Given the description of an element on the screen output the (x, y) to click on. 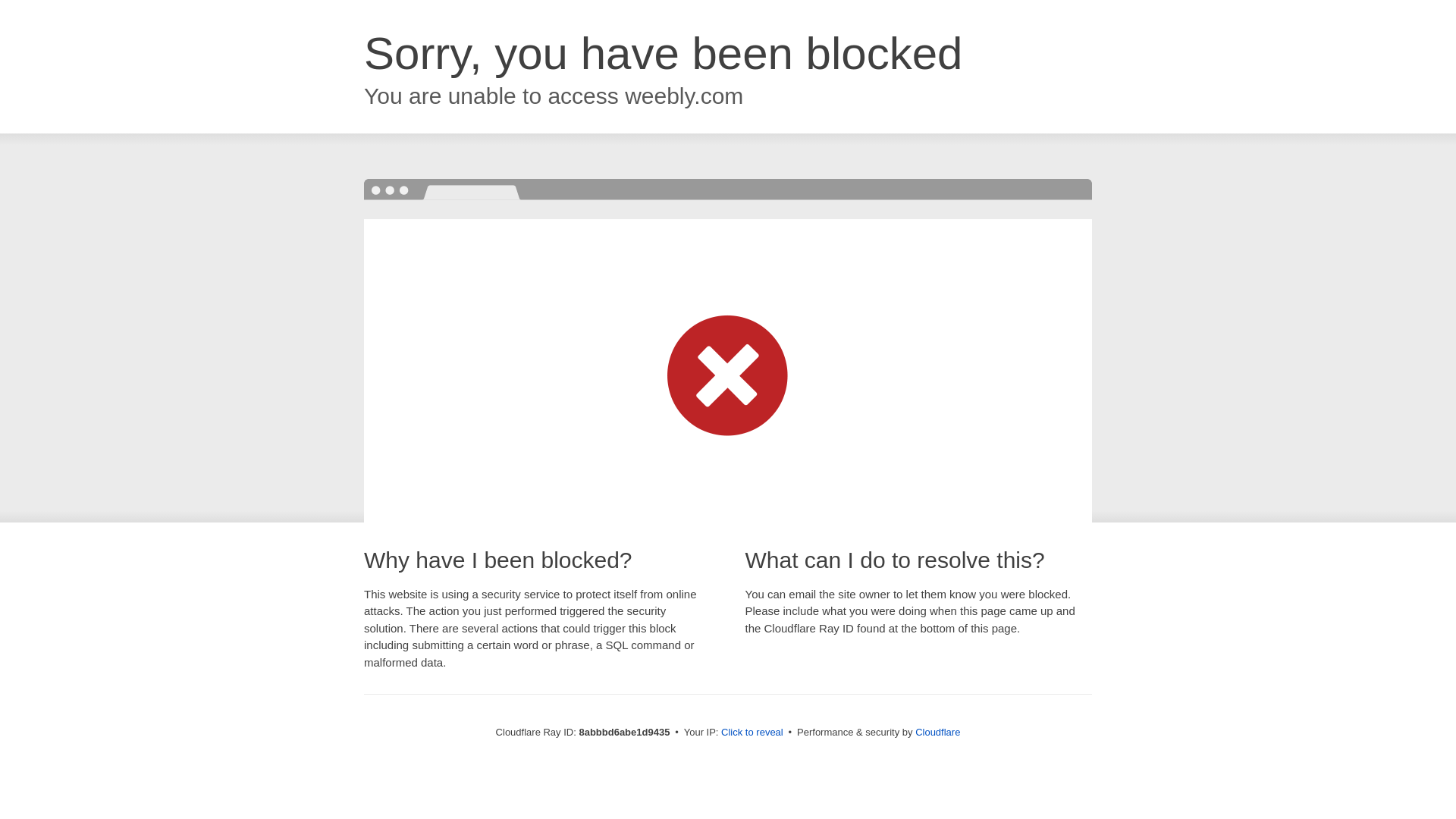
Click to reveal (751, 732)
Cloudflare (937, 731)
